Given the description of an element on the screen output the (x, y) to click on. 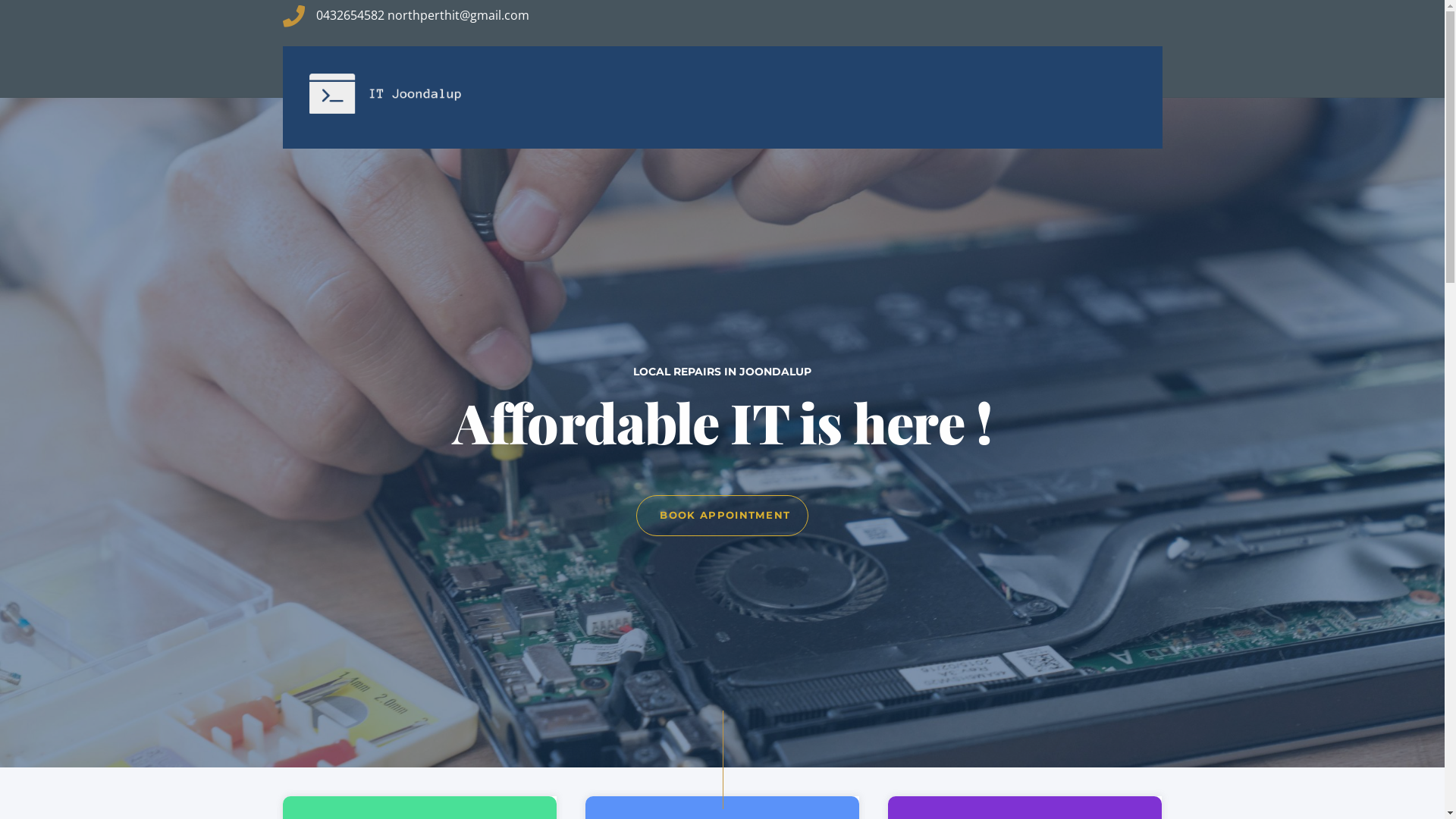
0432654582 Element type: text (349, 14)
northperthit@gmail.com Element type: text (457, 14)
BOOK APPOINTMENT Element type: text (721, 515)
IT_Joondalup_Logo Element type: hover (385, 93)
IT - Joondalup Element type: hover (385, 102)
